Given the description of an element on the screen output the (x, y) to click on. 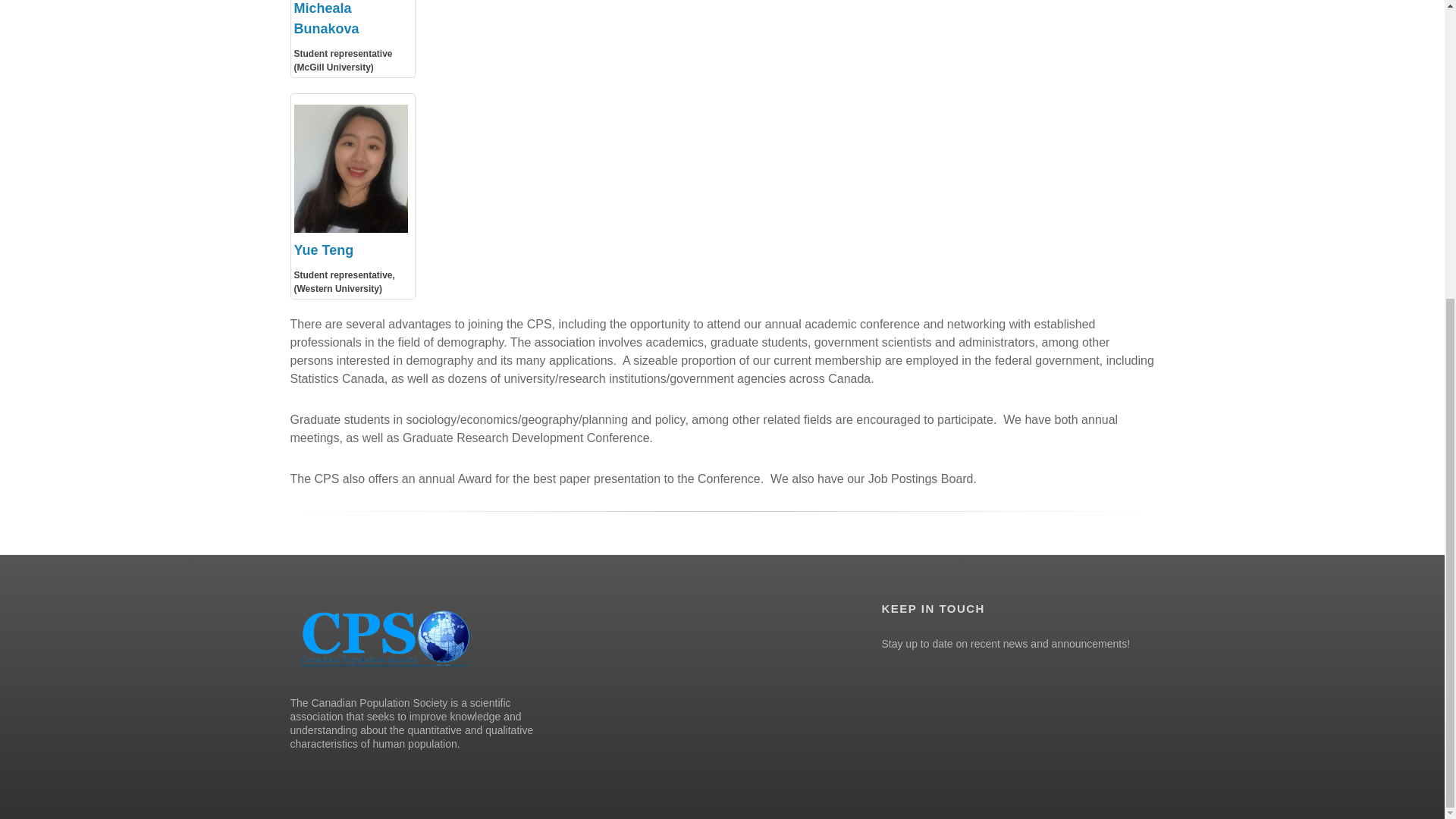
Micheala Bunakova (326, 18)
Yue Teng (323, 249)
